Given the description of an element on the screen output the (x, y) to click on. 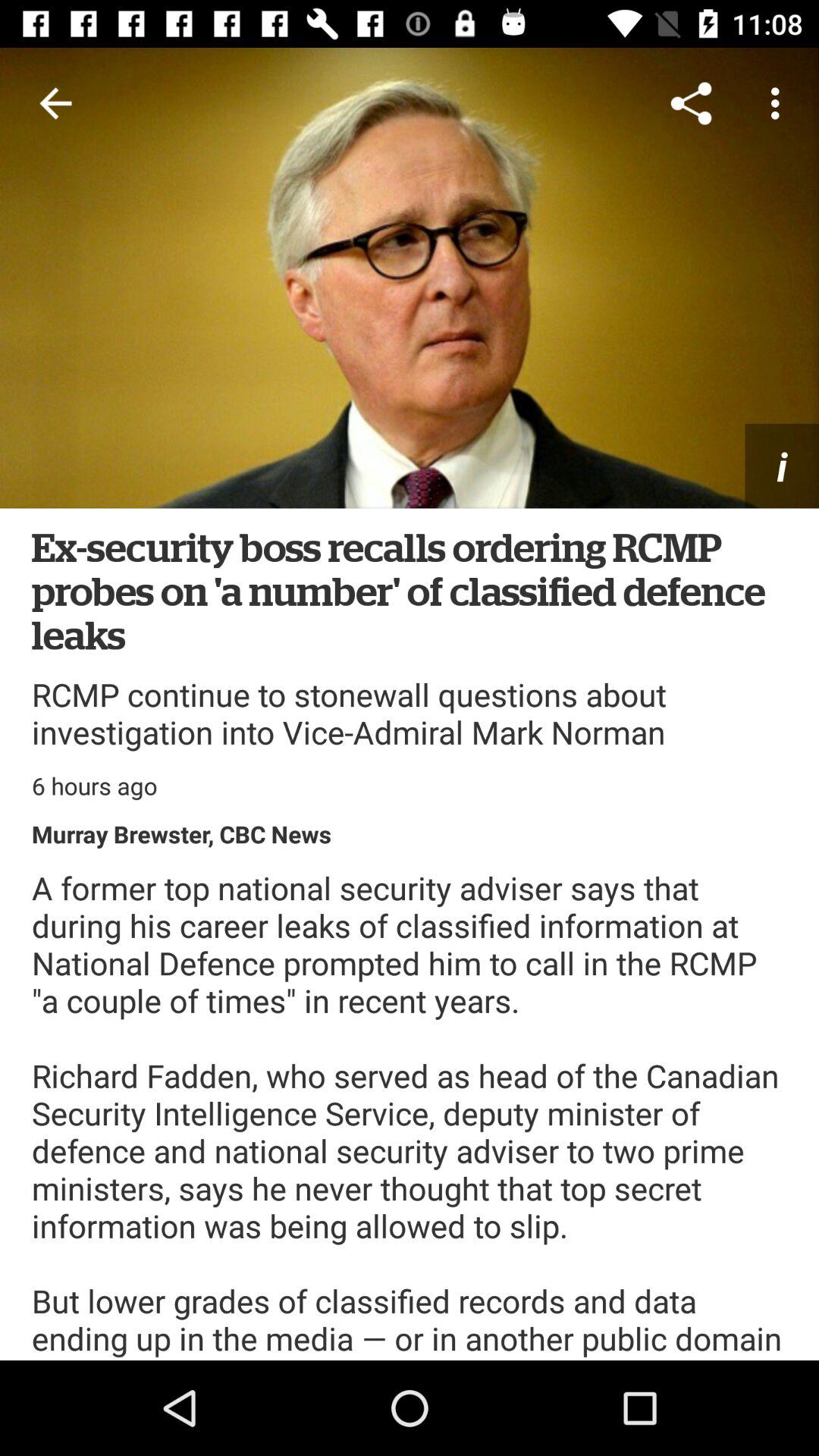
press the icon at the top left corner (55, 103)
